Given the description of an element on the screen output the (x, y) to click on. 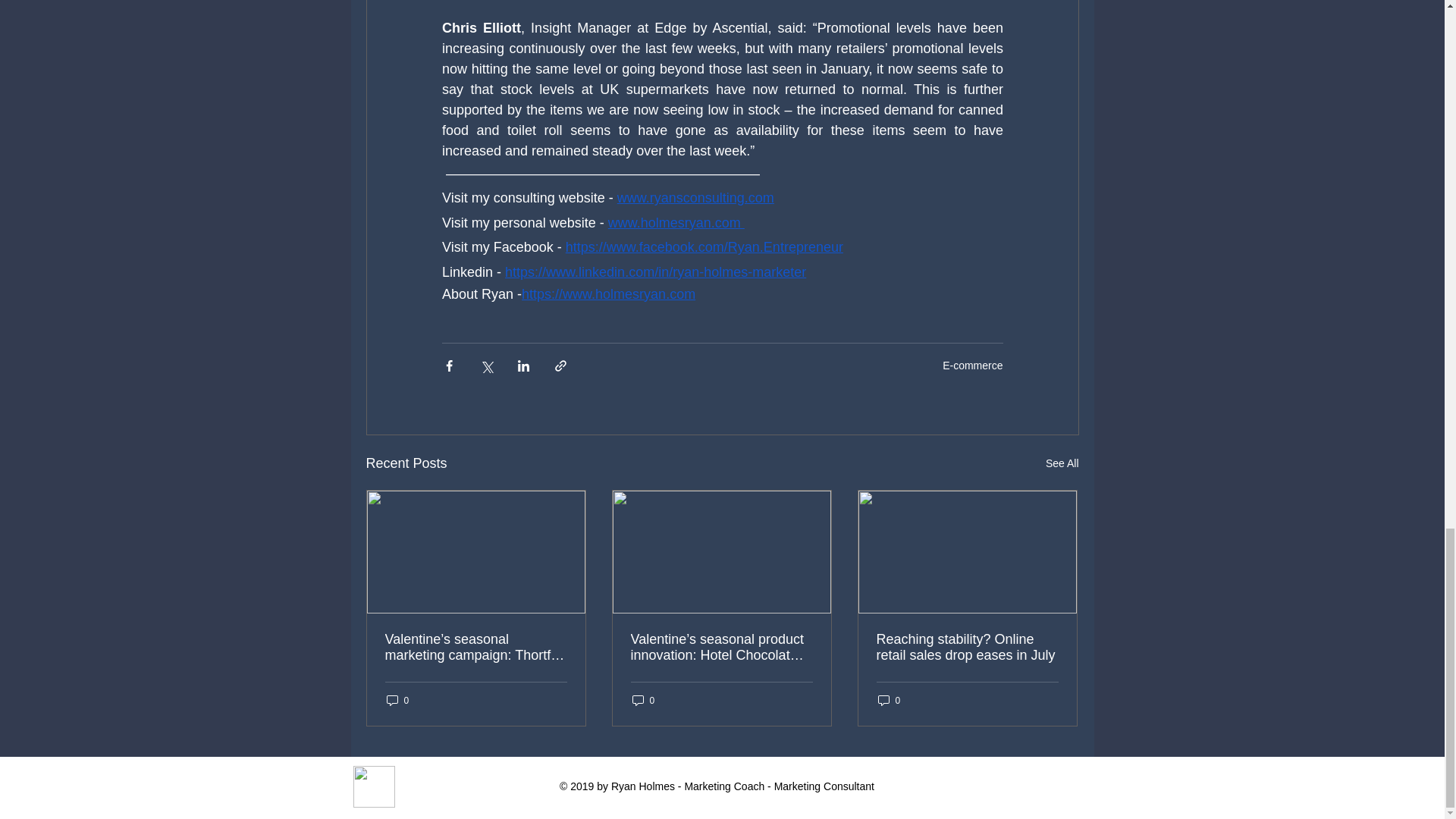
www.holmesryan.com  (675, 222)
www.ryansconsulting.com (694, 197)
LOGO RYANHOLMES 2.png (373, 786)
